Given the description of an element on the screen output the (x, y) to click on. 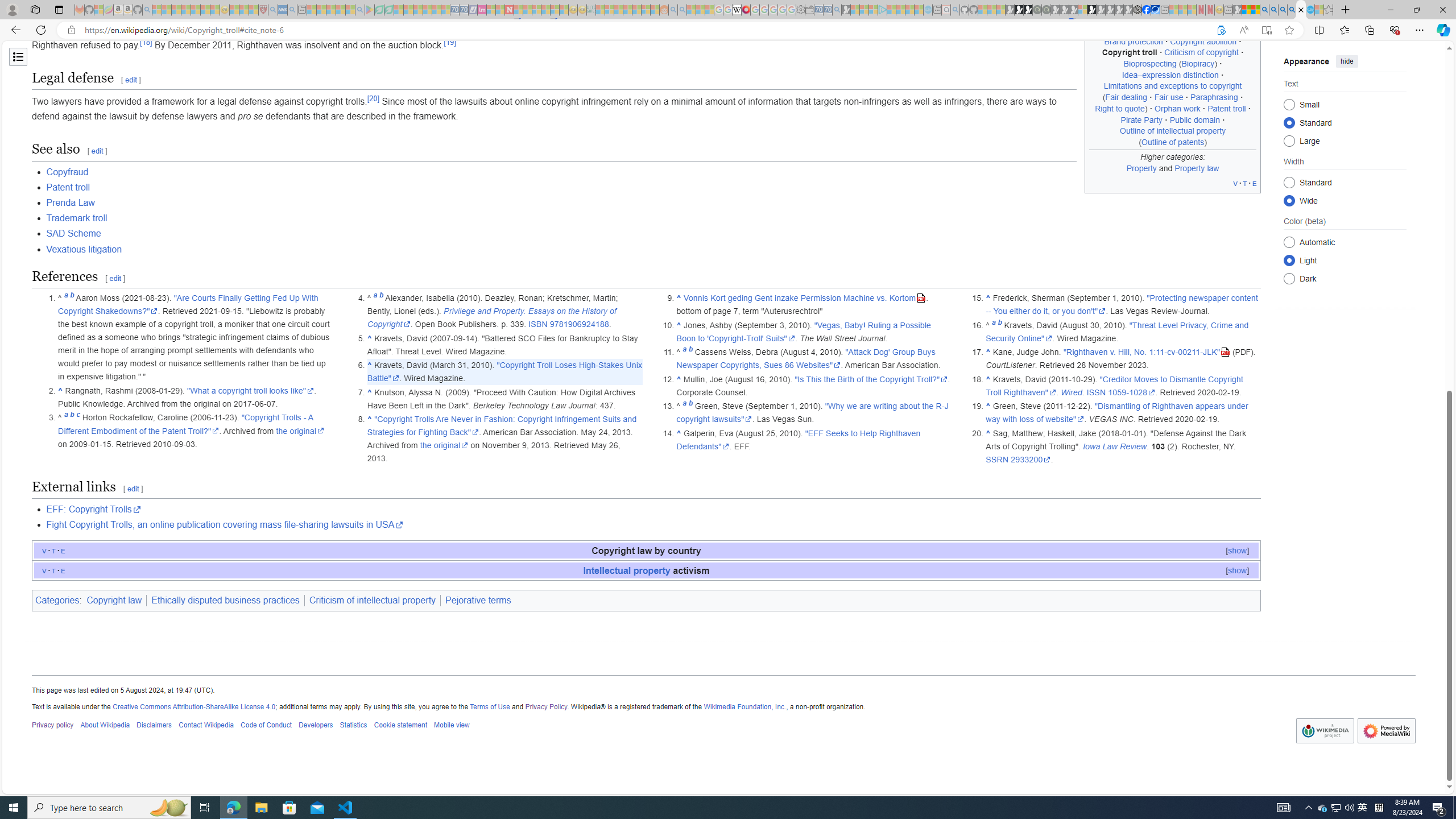
ISBN (537, 324)
"Is This the Birth of the Copyright Troll?" (870, 379)
Vexatious litigation (653, 249)
